Given the description of an element on the screen output the (x, y) to click on. 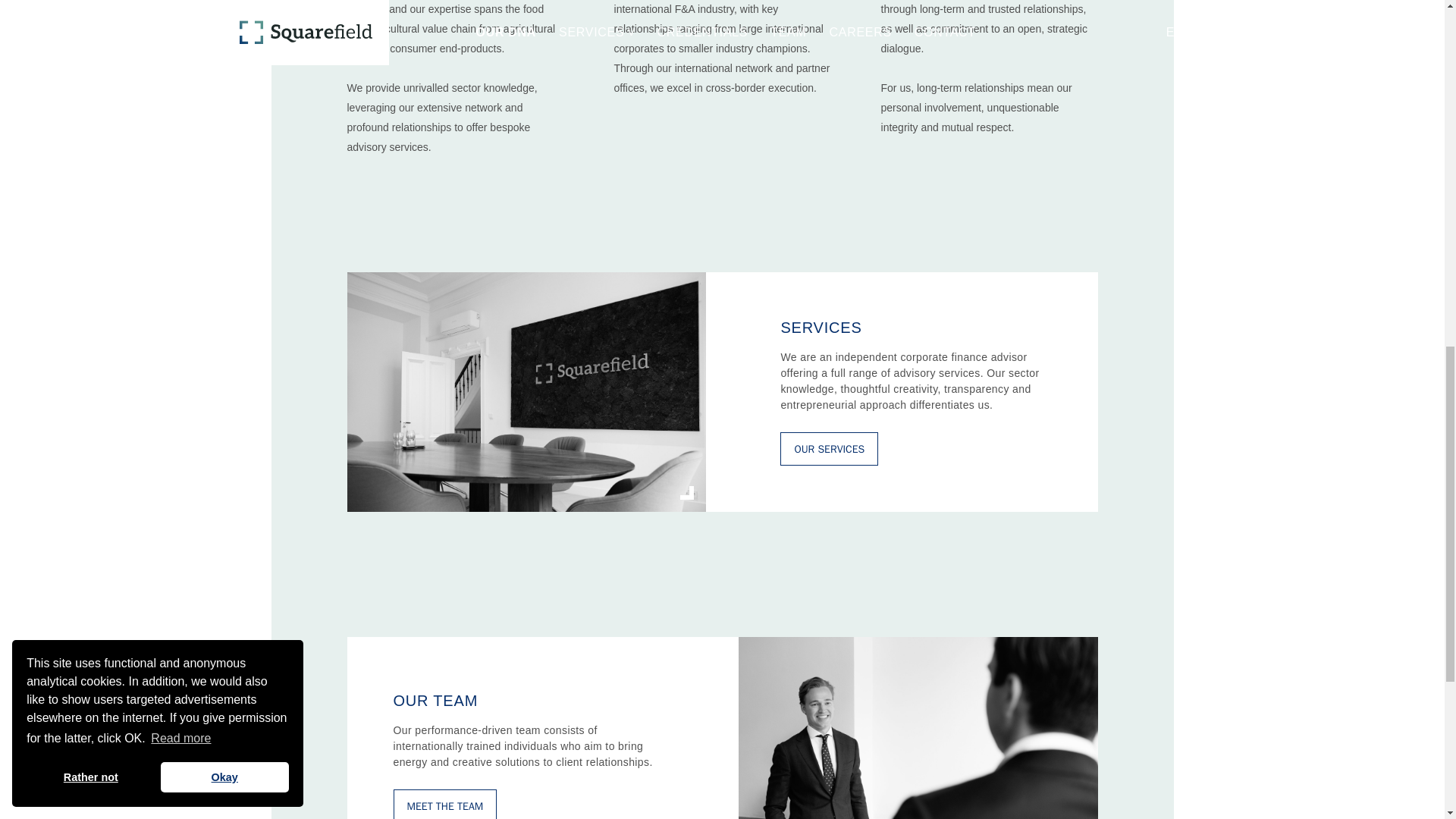
OUR SERVICES (828, 449)
MEET THE TEAM (444, 804)
